Given the description of an element on the screen output the (x, y) to click on. 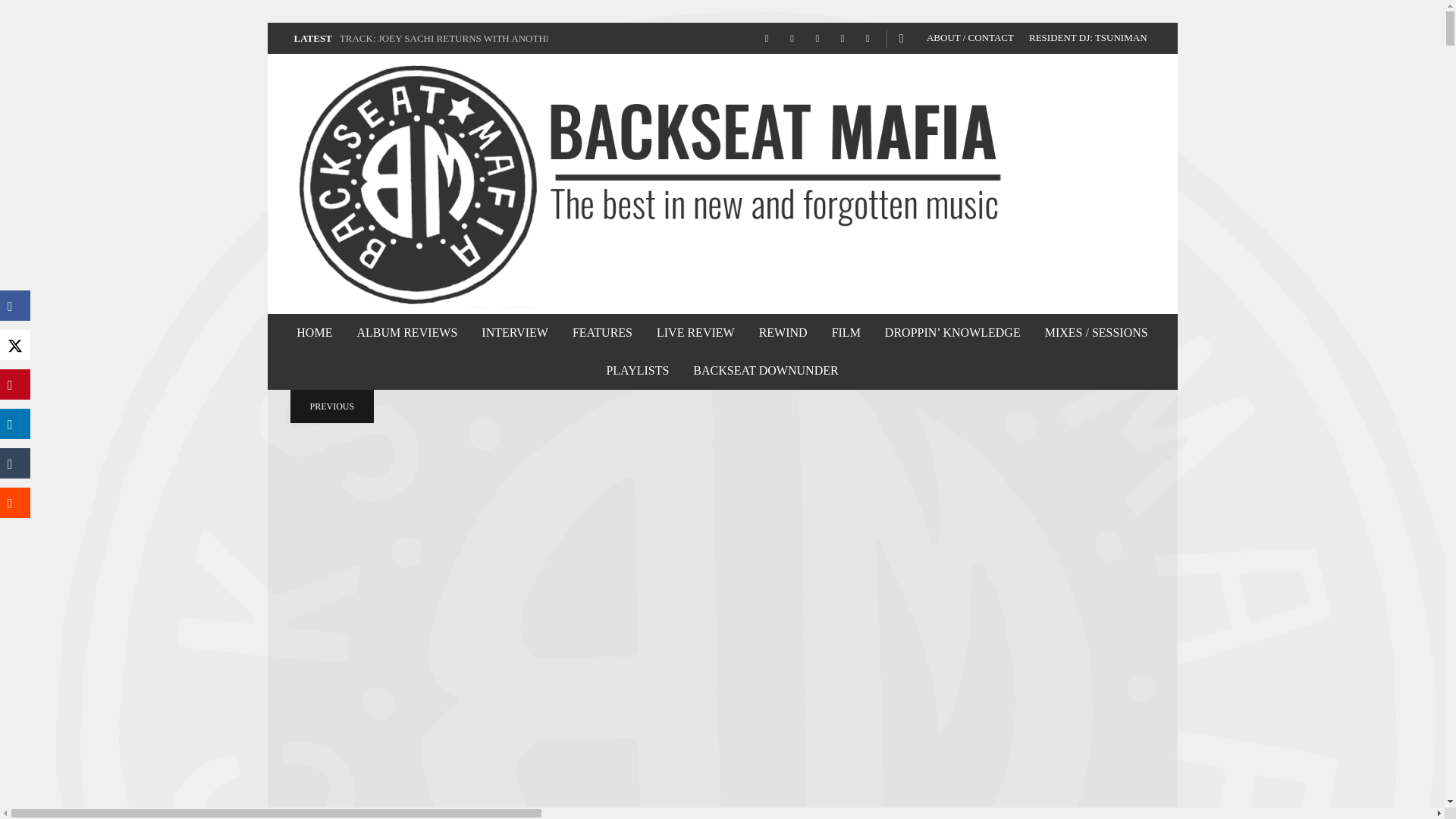
PLAYLISTS (637, 370)
FILM (845, 332)
LIVE REVIEW (695, 332)
REWIND (782, 332)
RESIDENT DJ: TSUNIMAN (1088, 37)
HOME (313, 332)
INTERVIEW (514, 332)
FEATURES (602, 332)
ALBUM REVIEWS (405, 332)
